Given the description of an element on the screen output the (x, y) to click on. 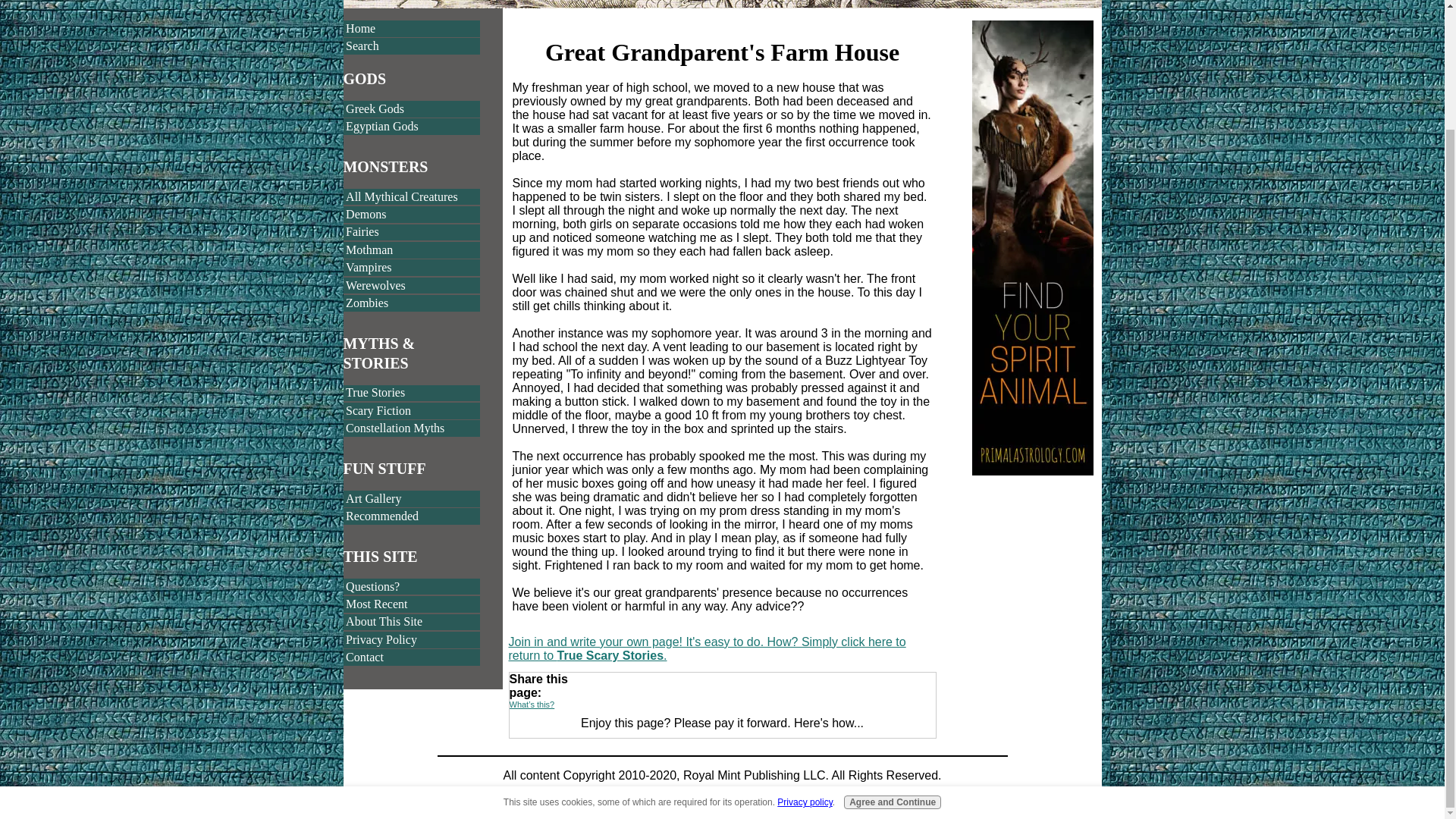
Fairies (411, 232)
Search (411, 45)
Greek Gods (411, 108)
Zombies (411, 303)
Constellation Myths (411, 428)
Werewolves (411, 285)
True Stories (411, 393)
Demons (411, 214)
Vampires (411, 267)
Art Gallery (411, 498)
